Given the description of an element on the screen output the (x, y) to click on. 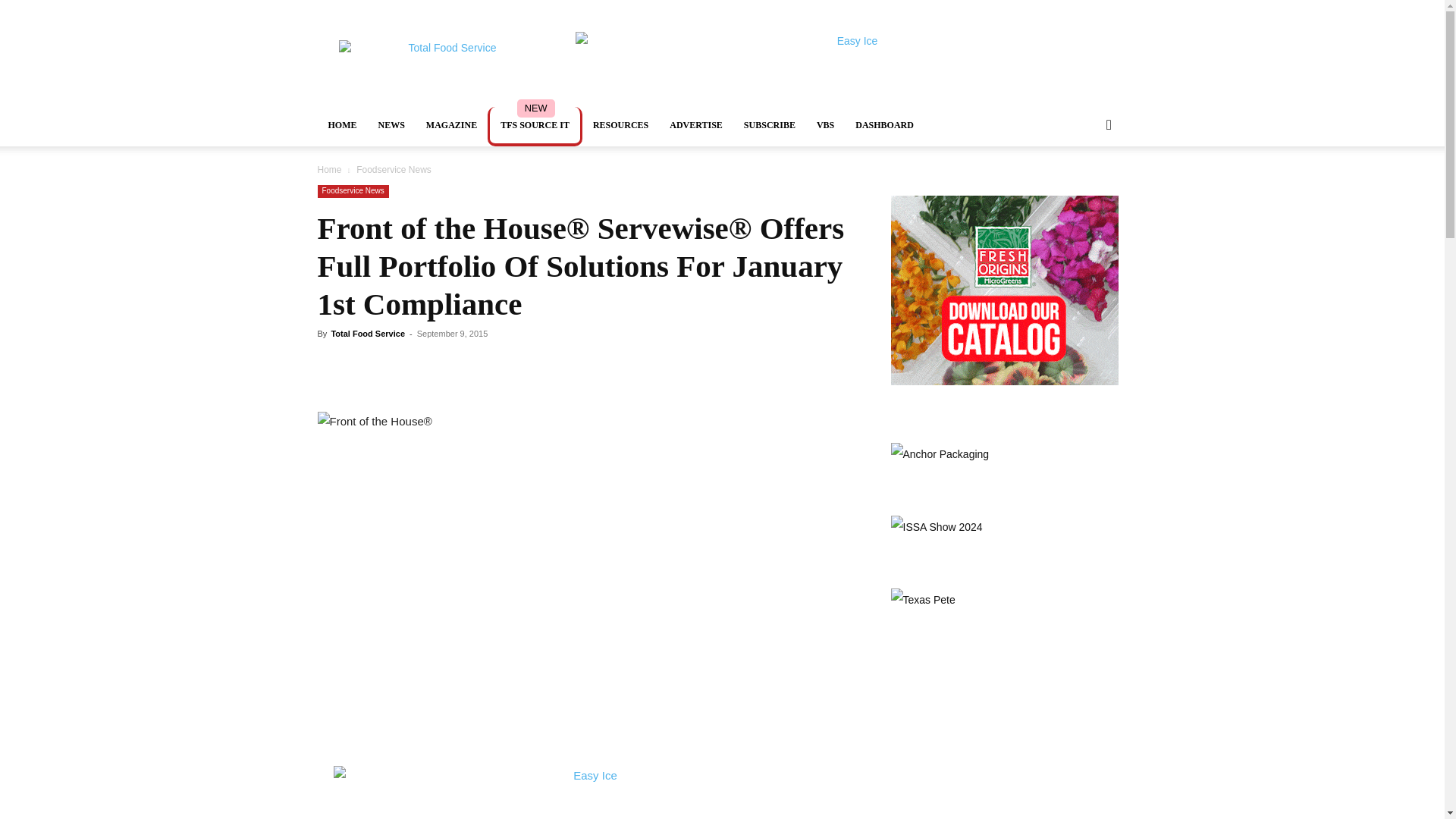
Virtual Breakfast Sessions (825, 125)
